Given the description of an element on the screen output the (x, y) to click on. 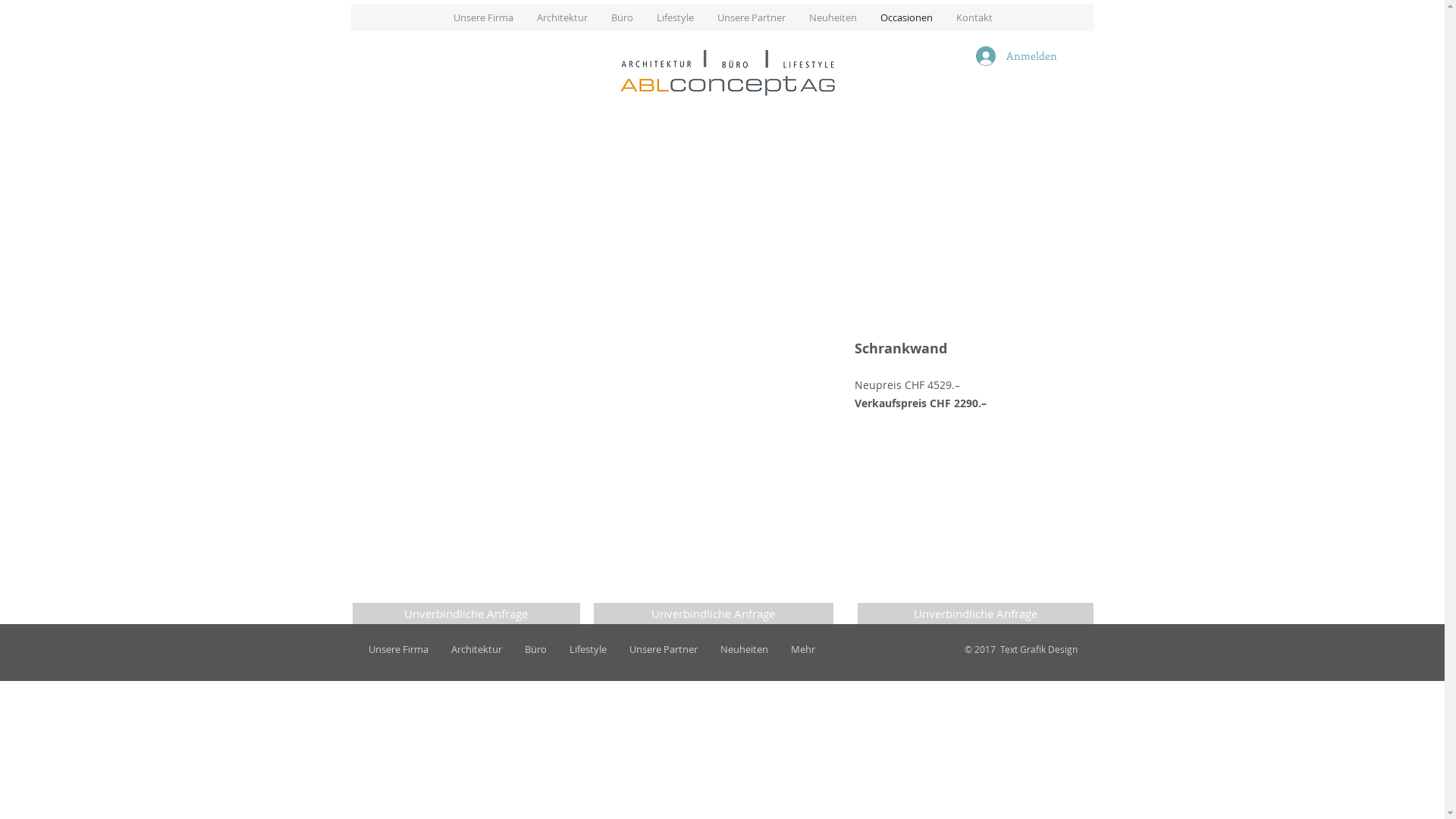
Neuheiten Element type: text (831, 17)
Unsere Firma Element type: text (482, 17)
Occasionen Element type: text (905, 17)
Unverbindliche Anfrage Element type: text (974, 613)
Architektur Element type: text (476, 649)
Anmelden Element type: text (1009, 55)
Unsere Partner Element type: text (662, 649)
Lifestyle Element type: text (588, 649)
Unverbindliche Anfrage Element type: text (712, 613)
Neuheiten Element type: text (743, 649)
Architektur Element type: text (561, 17)
Kontakt Element type: text (973, 17)
Unsere Partner Element type: text (751, 17)
Lifestyle Element type: text (674, 17)
Unsere Firma Element type: text (397, 649)
LOGO DEF NETZ.PNG Element type: hover (727, 73)
Unverbindliche Anfrage Element type: text (465, 613)
